Given the description of an element on the screen output the (x, y) to click on. 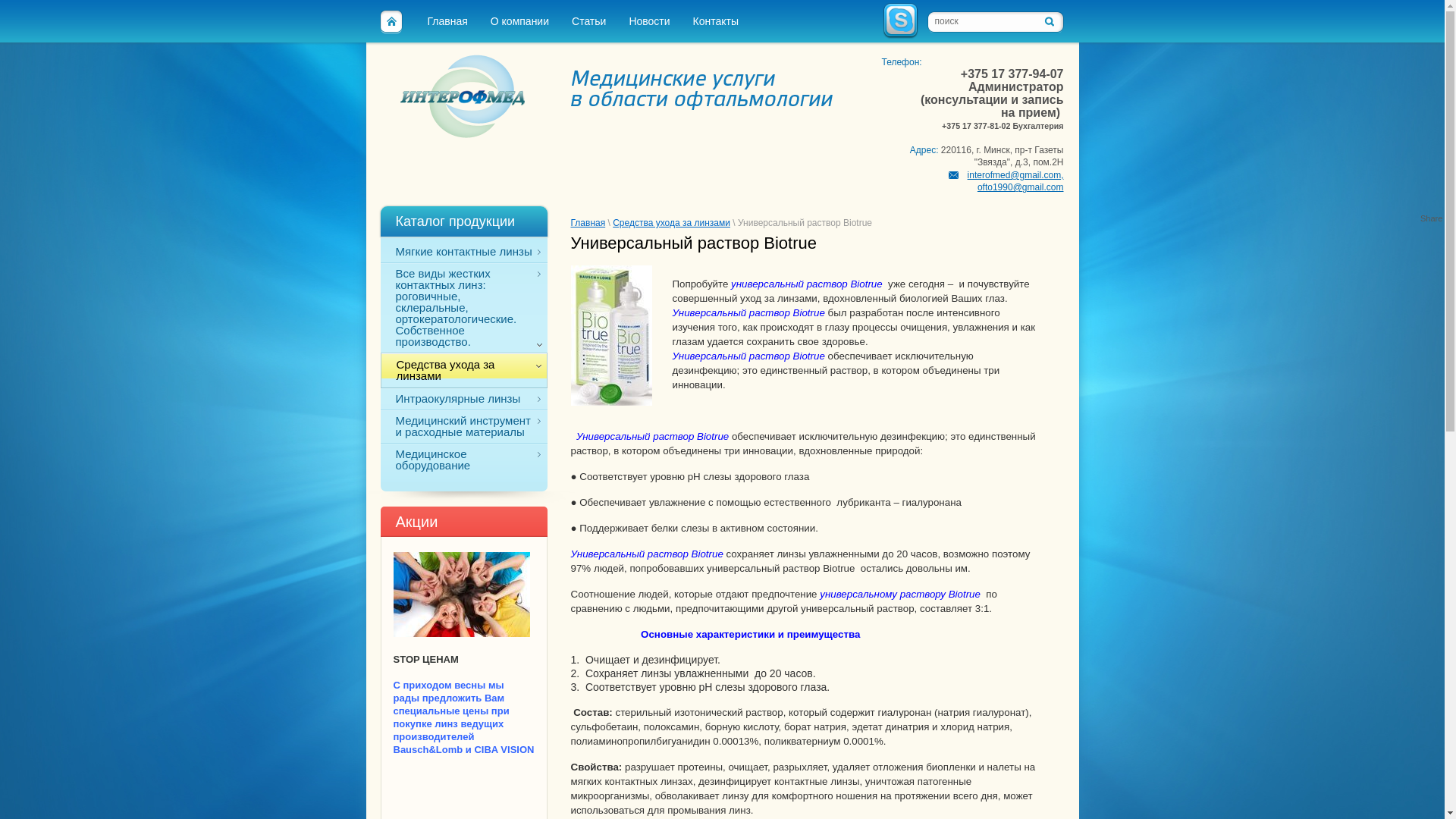
interofmed@gmail.com, ofto1990@gmail.com Element type: text (1005, 180)
